Given the description of an element on the screen output the (x, y) to click on. 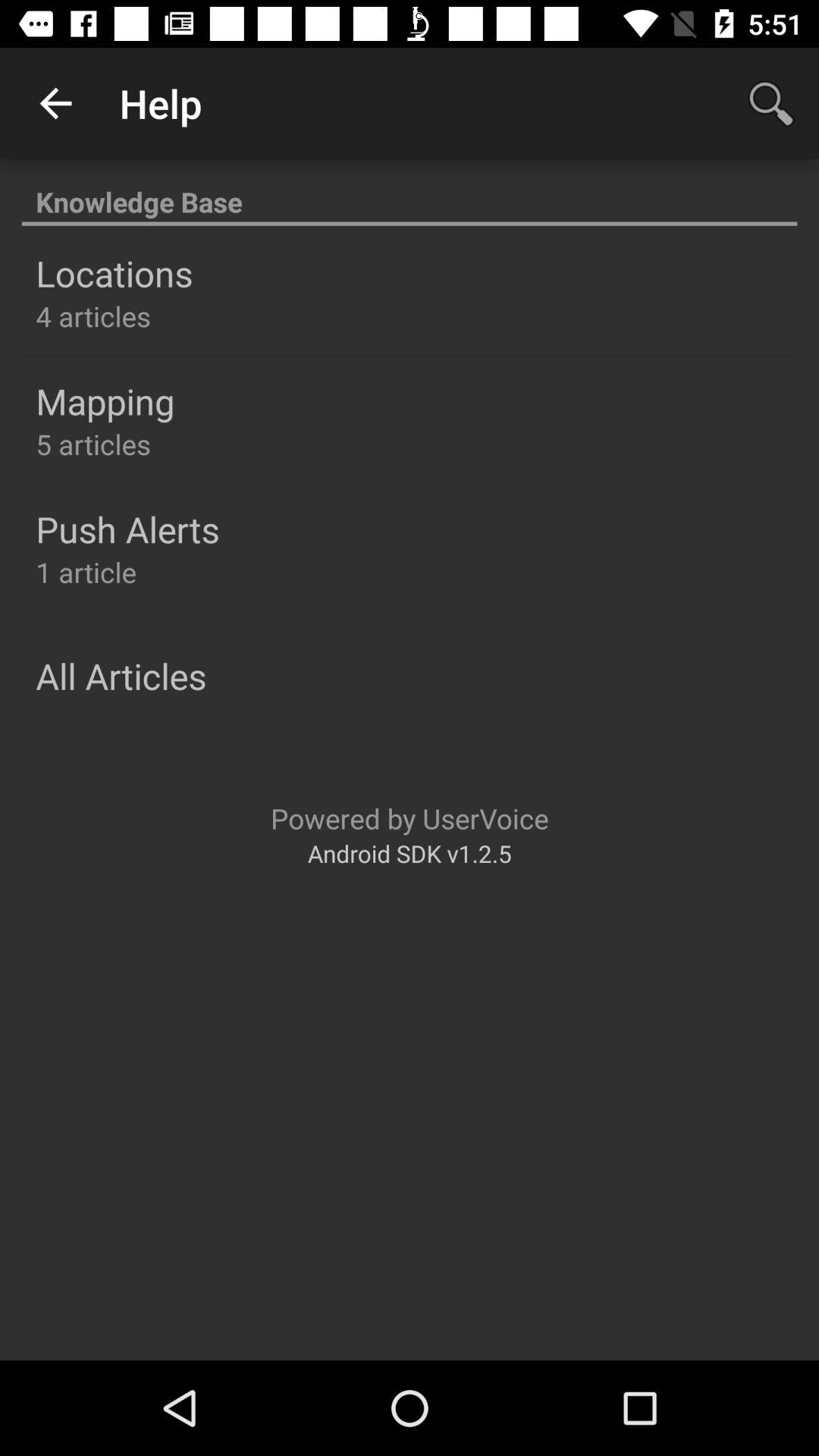
turn on the icon below all articles icon (409, 818)
